Given the description of an element on the screen output the (x, y) to click on. 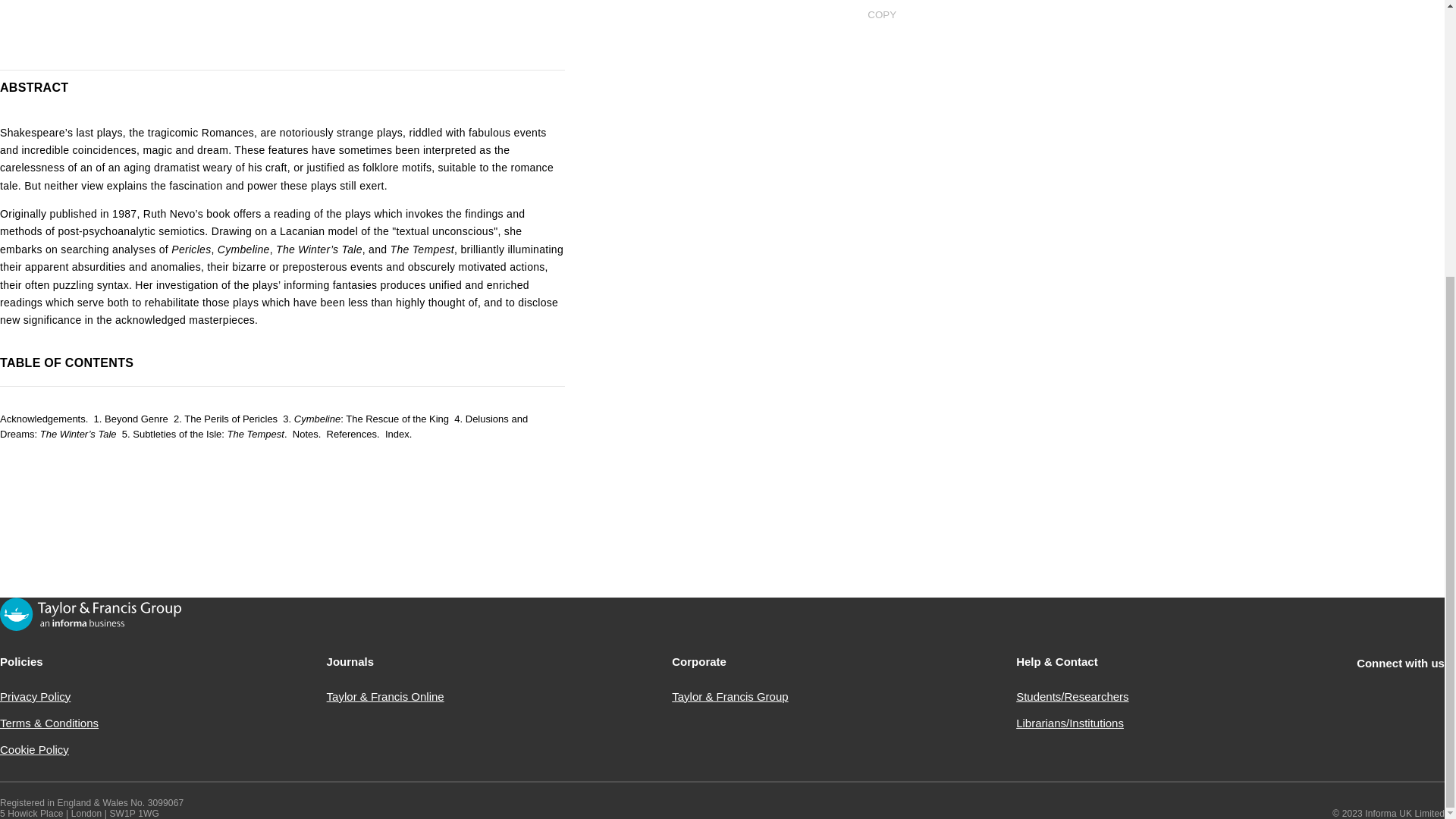
Cookie Policy (34, 749)
Privacy Policy (34, 696)
COPY (881, 14)
